Given the description of an element on the screen output the (x, y) to click on. 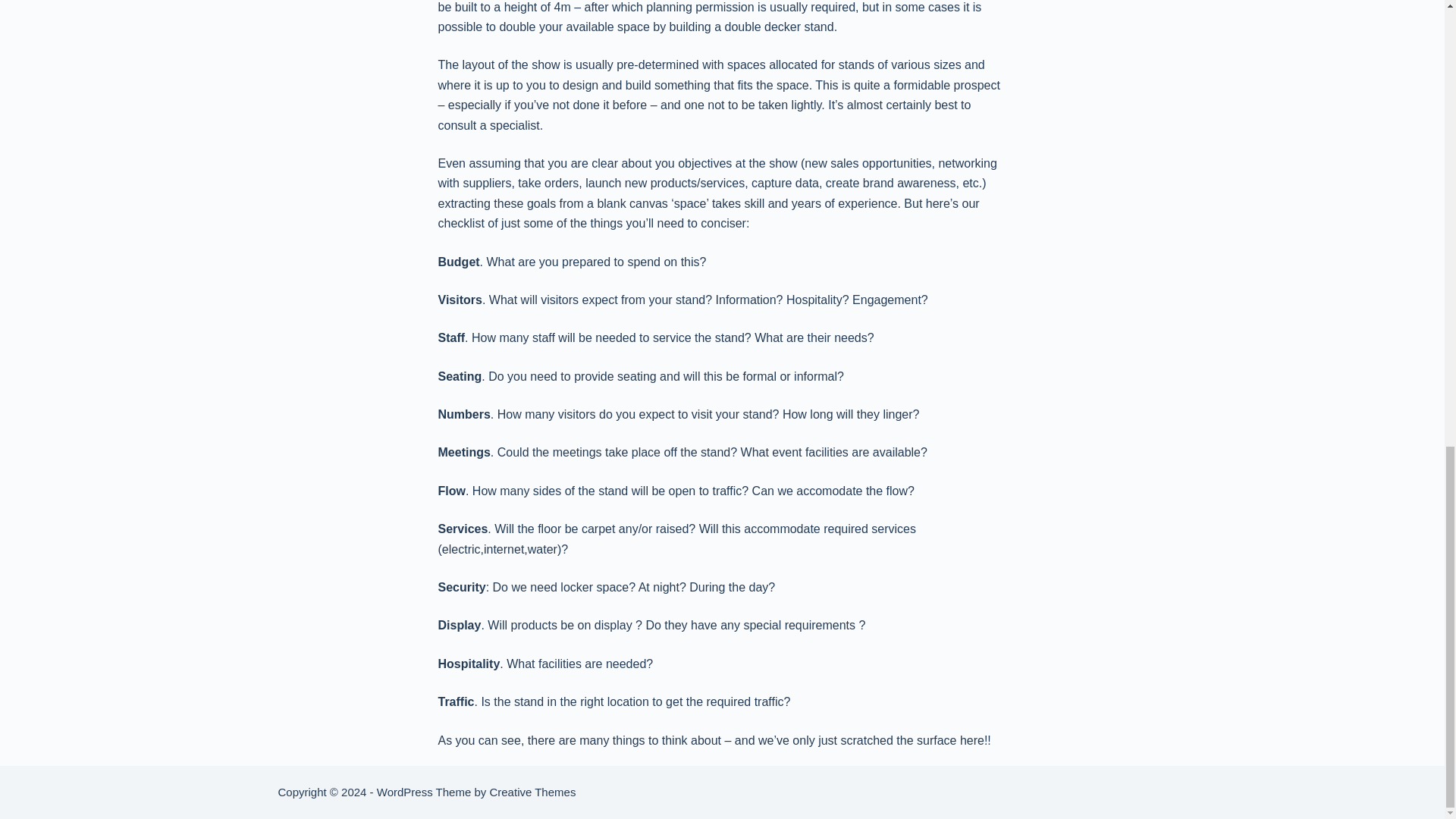
Creative Themes (532, 791)
